Given the description of an element on the screen output the (x, y) to click on. 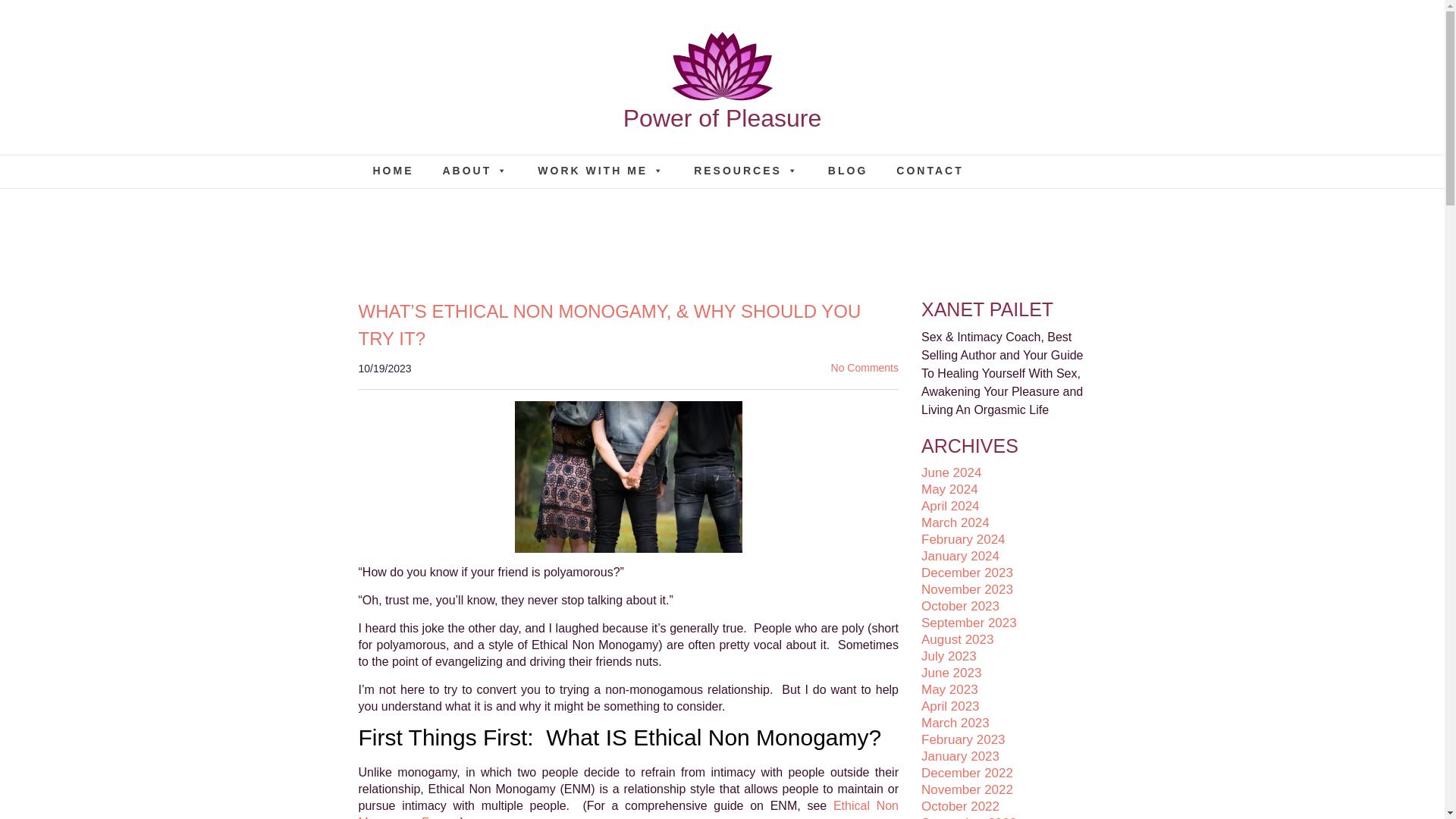
Power of Pleasure (722, 95)
RESOURCES (746, 170)
May 2024 (949, 489)
Link (600, 170)
BLOG (847, 170)
Link (393, 170)
HOME (393, 170)
ABOUT (475, 170)
June 2024 (951, 472)
No Comments (864, 367)
April 2024 (950, 505)
WORK WITH ME (600, 170)
Ethical Non Monogamy Forum (628, 809)
CONTACT (929, 170)
March 2024 (955, 522)
